Given the description of an element on the screen output the (x, y) to click on. 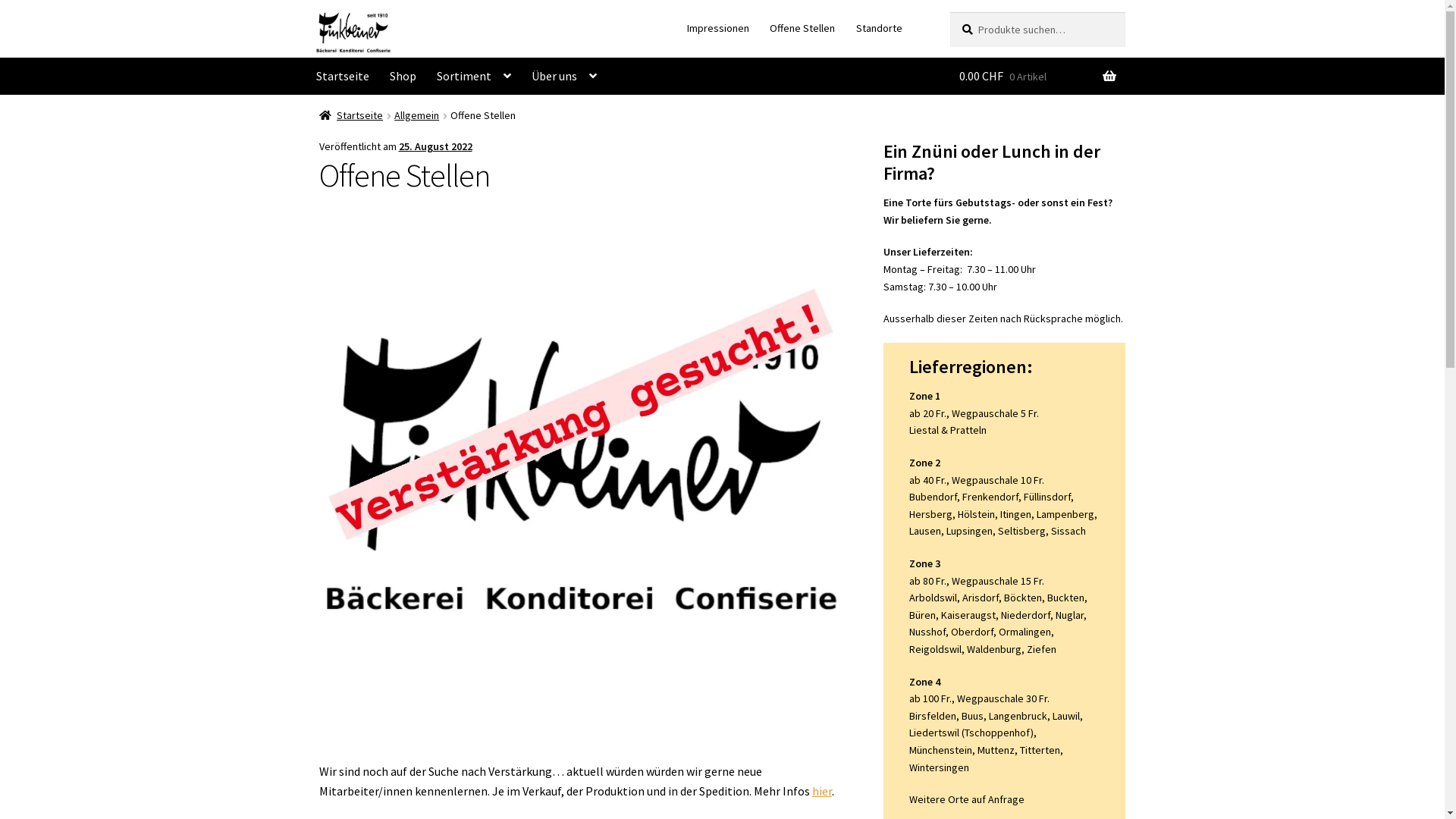
Startseite Element type: text (342, 76)
Shop Element type: text (402, 76)
0.00 CHF 0 Artikel Element type: text (1037, 76)
Allgemein Element type: text (416, 115)
Offene Stellen Element type: text (802, 27)
Startseite Element type: text (351, 115)
25. August 2022 Element type: text (435, 146)
hier Element type: text (821, 790)
Standorte Element type: text (878, 27)
Suche Element type: text (949, 11)
Sortiment Element type: text (473, 76)
Zur Navigation springen Element type: text (318, 11)
Impressionen Element type: text (717, 27)
